Given the description of an element on the screen output the (x, y) to click on. 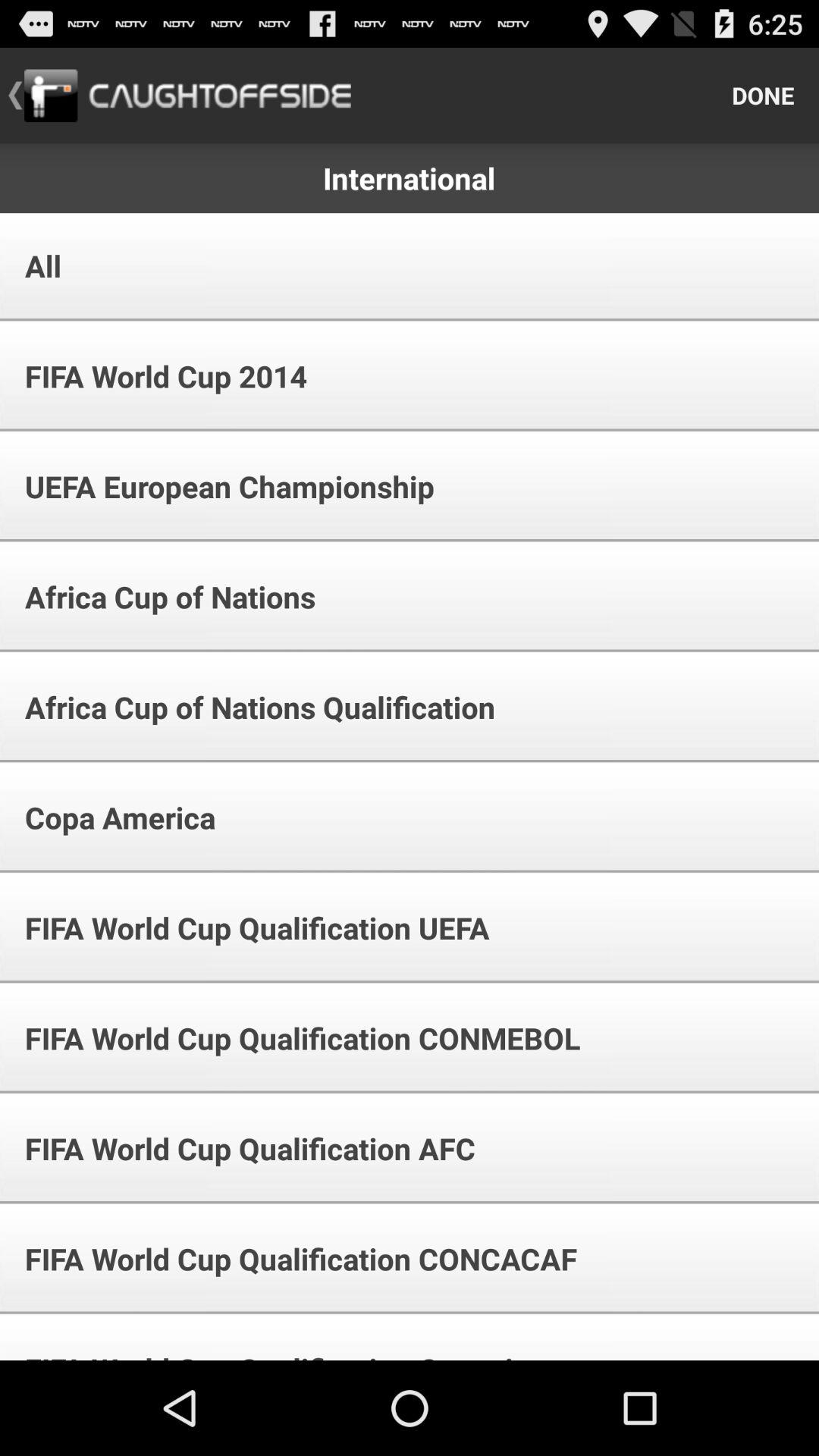
click the uefa european championship app (219, 486)
